Given the description of an element on the screen output the (x, y) to click on. 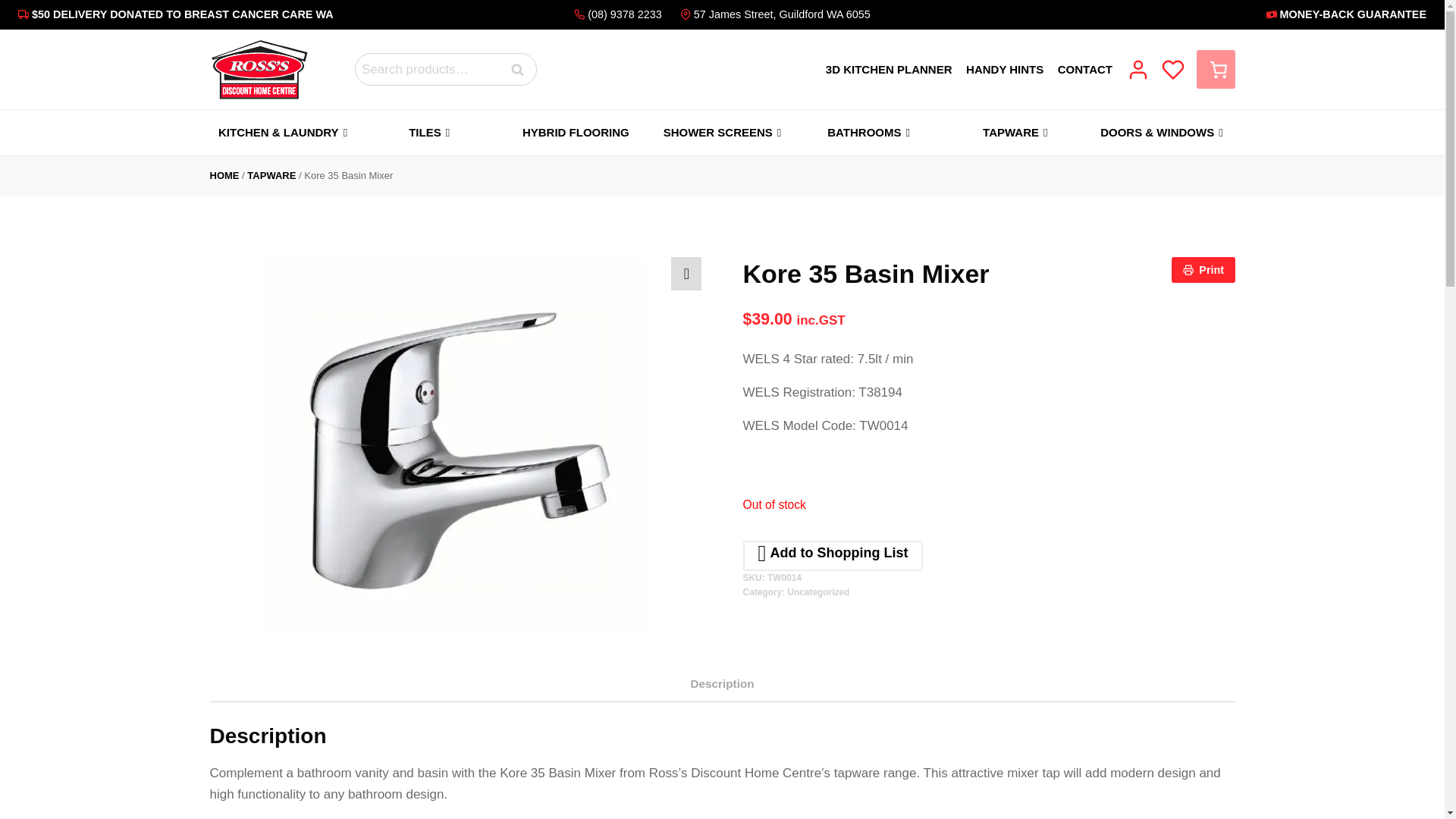
CONTACT (1085, 68)
3D KITCHEN PLANNER (888, 68)
HANDY HINTS (1004, 68)
MONEY-BACK GUARANTEE (1199, 14)
57 James Street, Guildford WA 6055 (772, 14)
Search (518, 69)
Kore 35 Basin Mixer (258, 69)
